Given the description of an element on the screen output the (x, y) to click on. 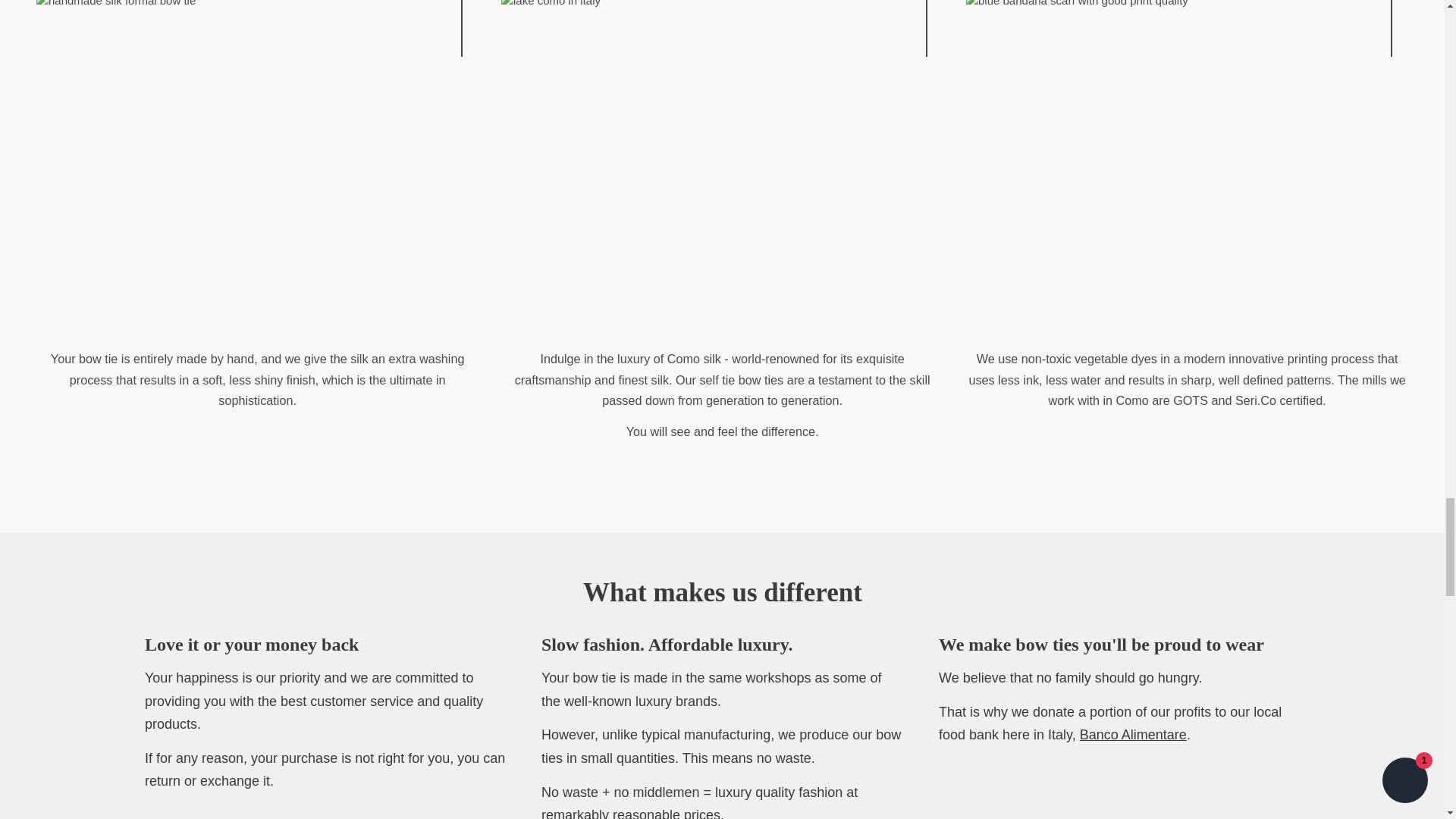
seri.co certified (1255, 400)
GOTS Certified (1190, 400)
Italian food bank (1132, 735)
